Given the description of an element on the screen output the (x, y) to click on. 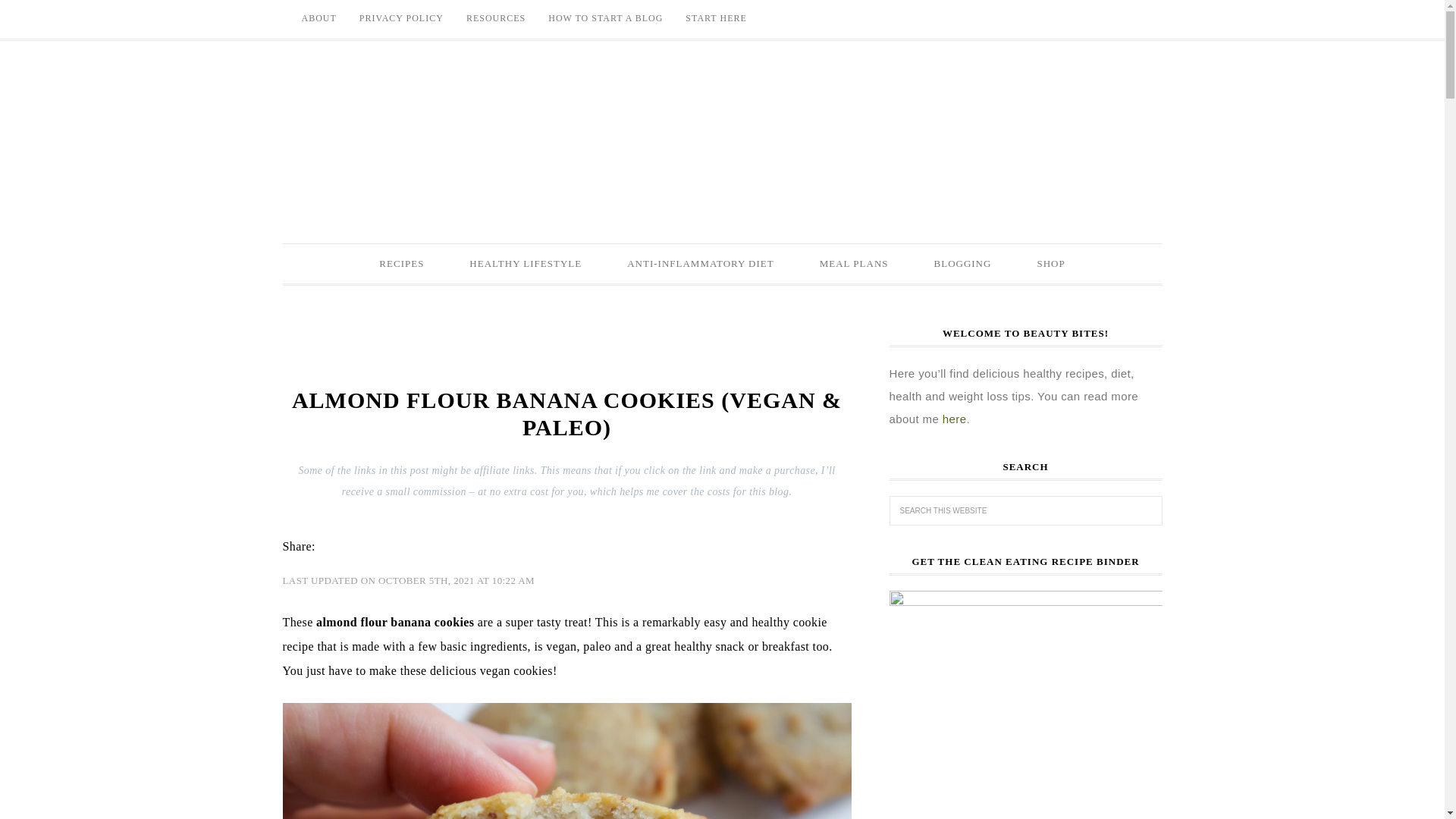
BEAUTY BITES (721, 133)
START HERE (715, 18)
BLOGGING (962, 263)
ANTI-INFLAMMATORY DIET (700, 263)
MEAL PLANS (853, 263)
HOW TO START A BLOG (605, 18)
SHOP (1050, 263)
RECIPES (401, 263)
ABOUT (318, 18)
